Given the description of an element on the screen output the (x, y) to click on. 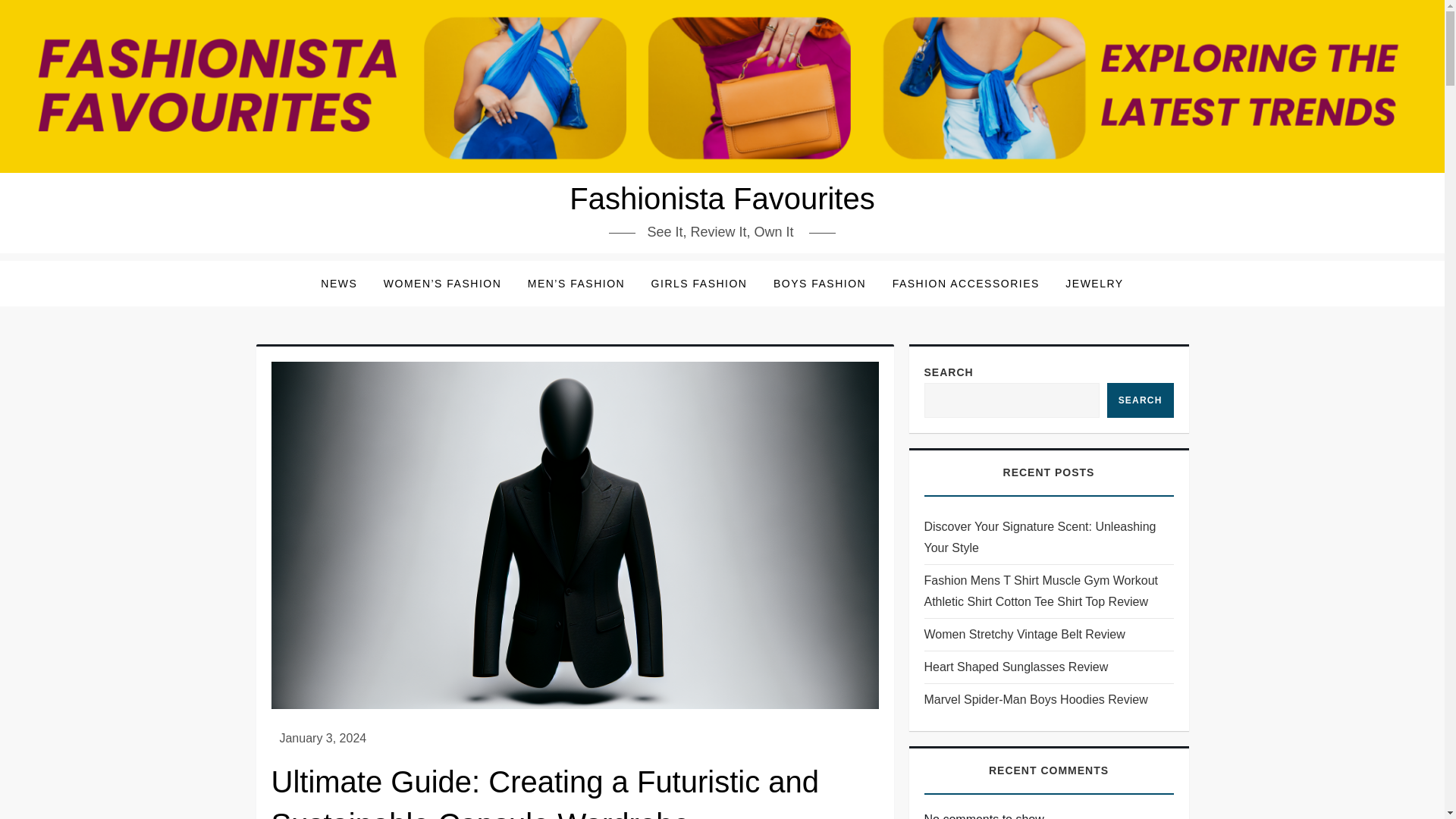
FASHION ACCESSORIES (965, 283)
Fashionista Favourites (722, 198)
JEWELRY (1094, 283)
BOYS FASHION (819, 283)
GIRLS FASHION (699, 283)
January 3, 2024 (322, 738)
NEWS (338, 283)
